Given the description of an element on the screen output the (x, y) to click on. 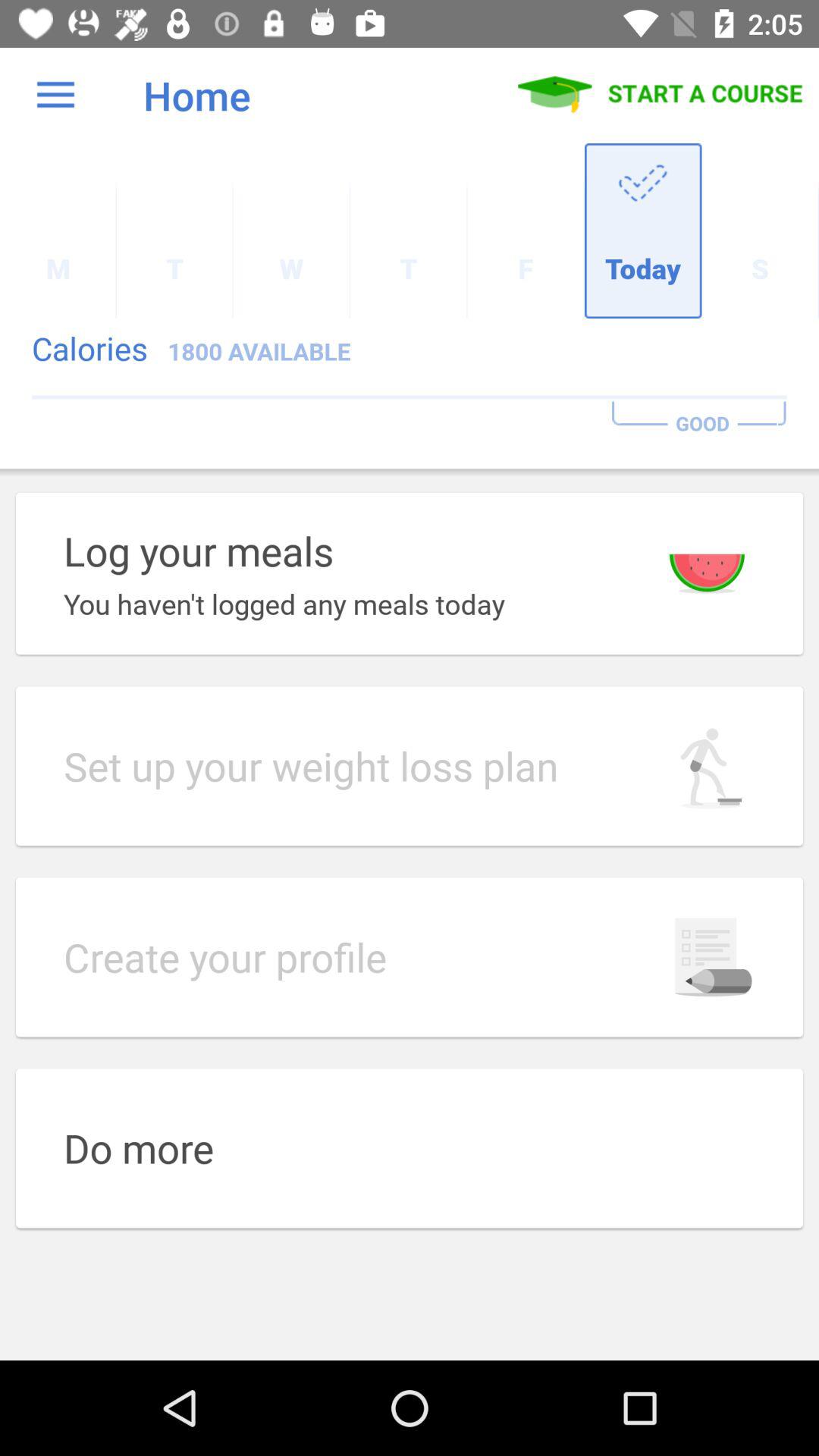
choose item next to the home (660, 95)
